Given the description of an element on the screen output the (x, y) to click on. 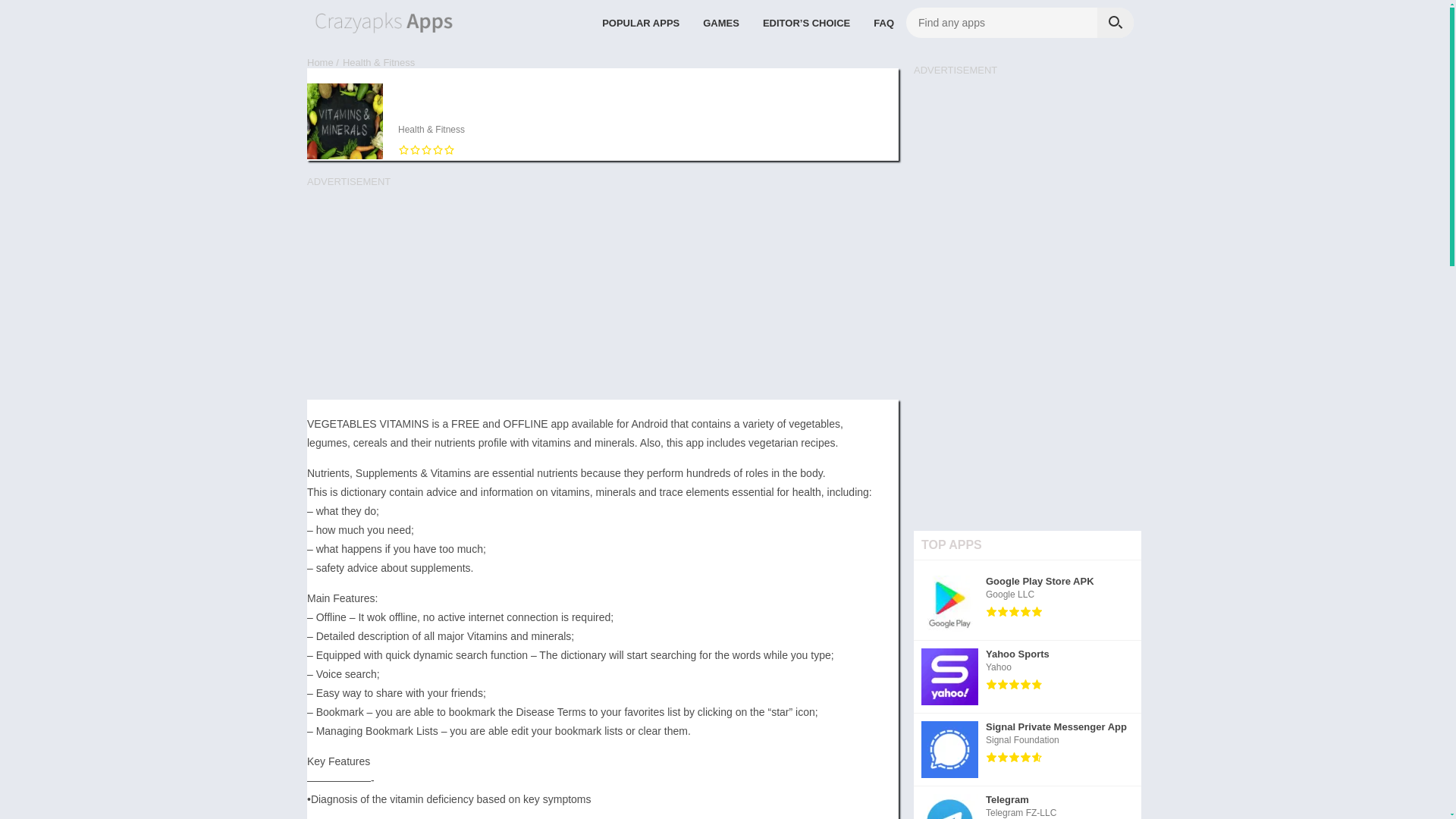
POPULAR APPS (1027, 604)
Advertisement (640, 22)
Home (602, 293)
CrazyAPKs (1027, 676)
GAMES (320, 61)
FAQ (1027, 749)
